Given the description of an element on the screen output the (x, y) to click on. 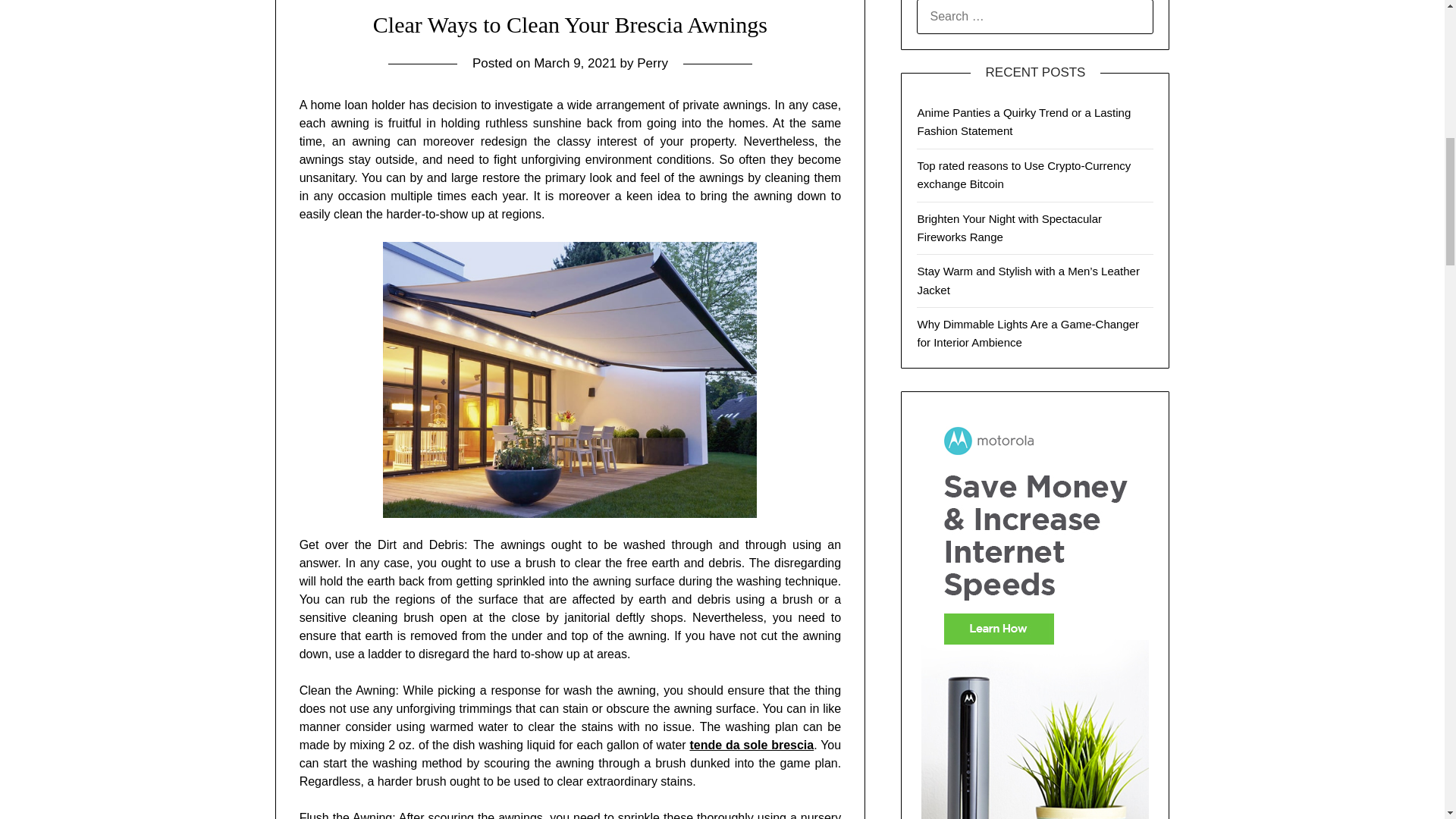
Why Dimmable Lights Are a Game-Changer for Interior Ambience (1027, 332)
Brighten Your Night with Spectacular Fireworks Range (1008, 227)
tende da sole brescia (750, 744)
March 9, 2021 (574, 63)
Perry (652, 63)
Anime Panties a Quirky Trend or a Lasting Fashion Statement (1024, 121)
Top rated reasons to Use Crypto-Currency exchange Bitcoin (1024, 174)
